Given the description of an element on the screen output the (x, y) to click on. 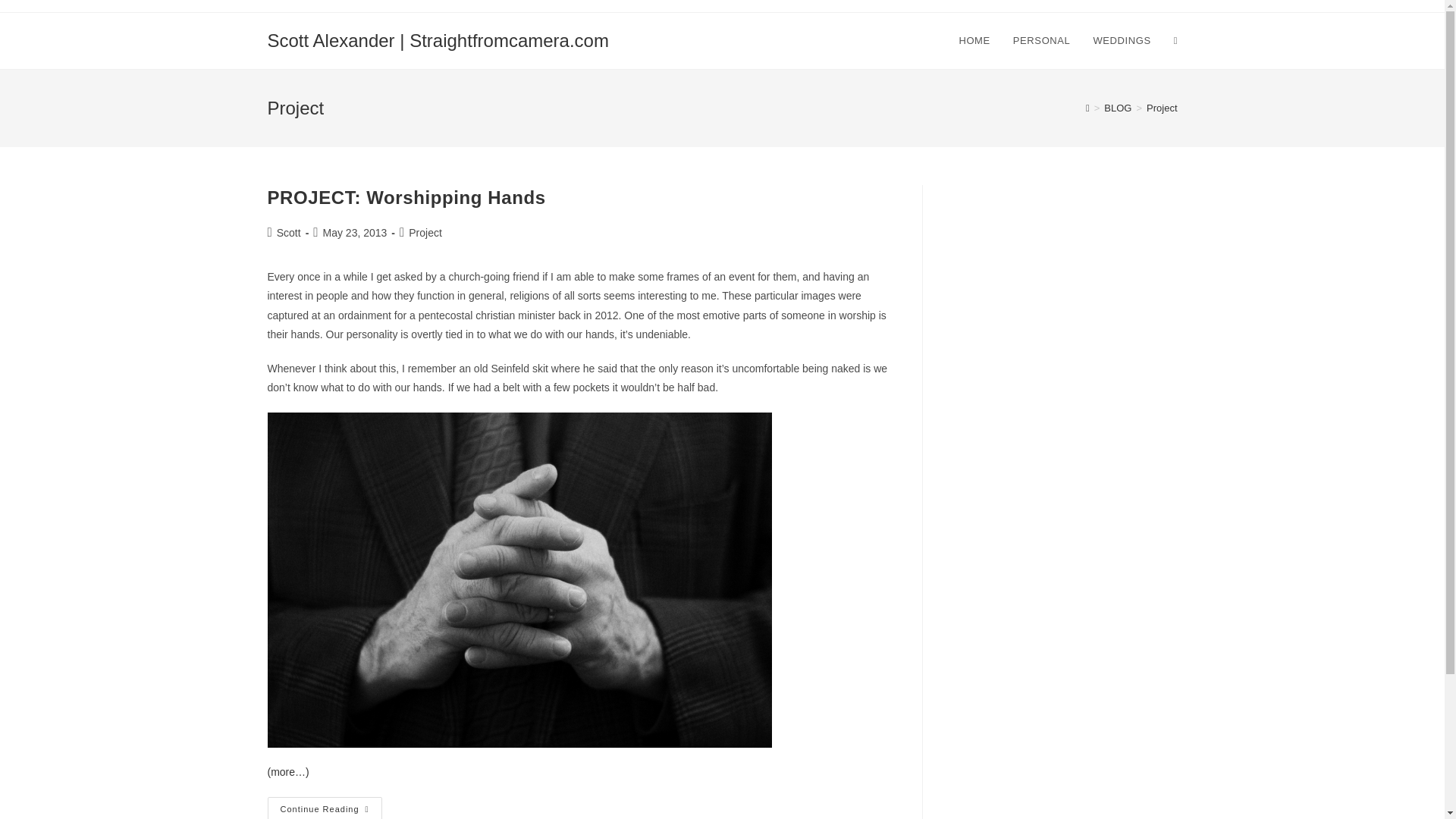
BLOG (1117, 107)
Posts by Scott (288, 232)
Scott (288, 232)
Project (323, 807)
WEDDINGS (1161, 107)
PROJECT: Worshipping Hands (1121, 40)
Project (405, 197)
PERSONAL (425, 232)
HOME (1041, 40)
